Given the description of an element on the screen output the (x, y) to click on. 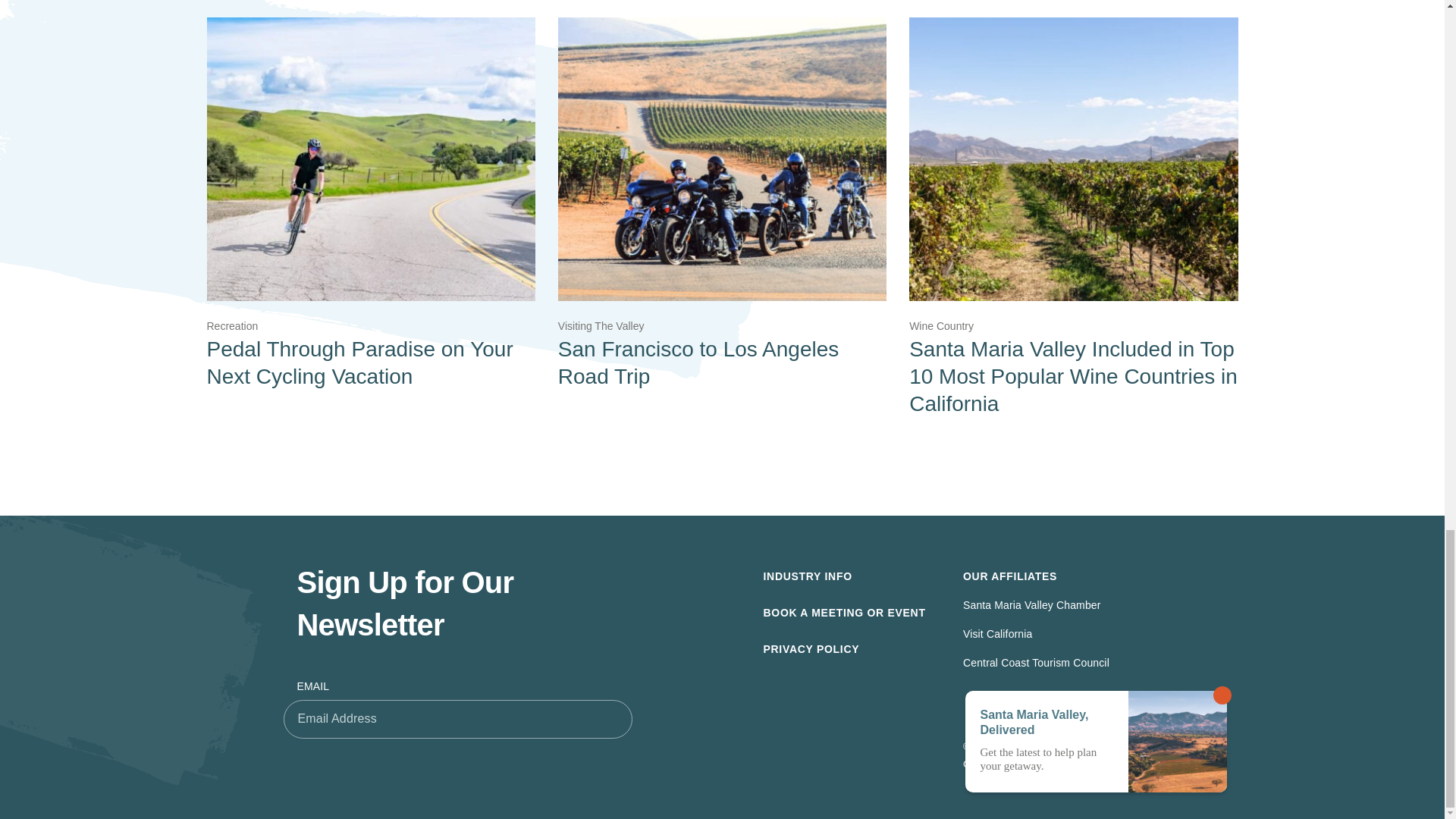
Find us on TikTok (1136, 709)
Find us on Instagram (1101, 709)
Find us on YouTube (1038, 709)
Find us on Twitter (1003, 709)
